Given the description of an element on the screen output the (x, y) to click on. 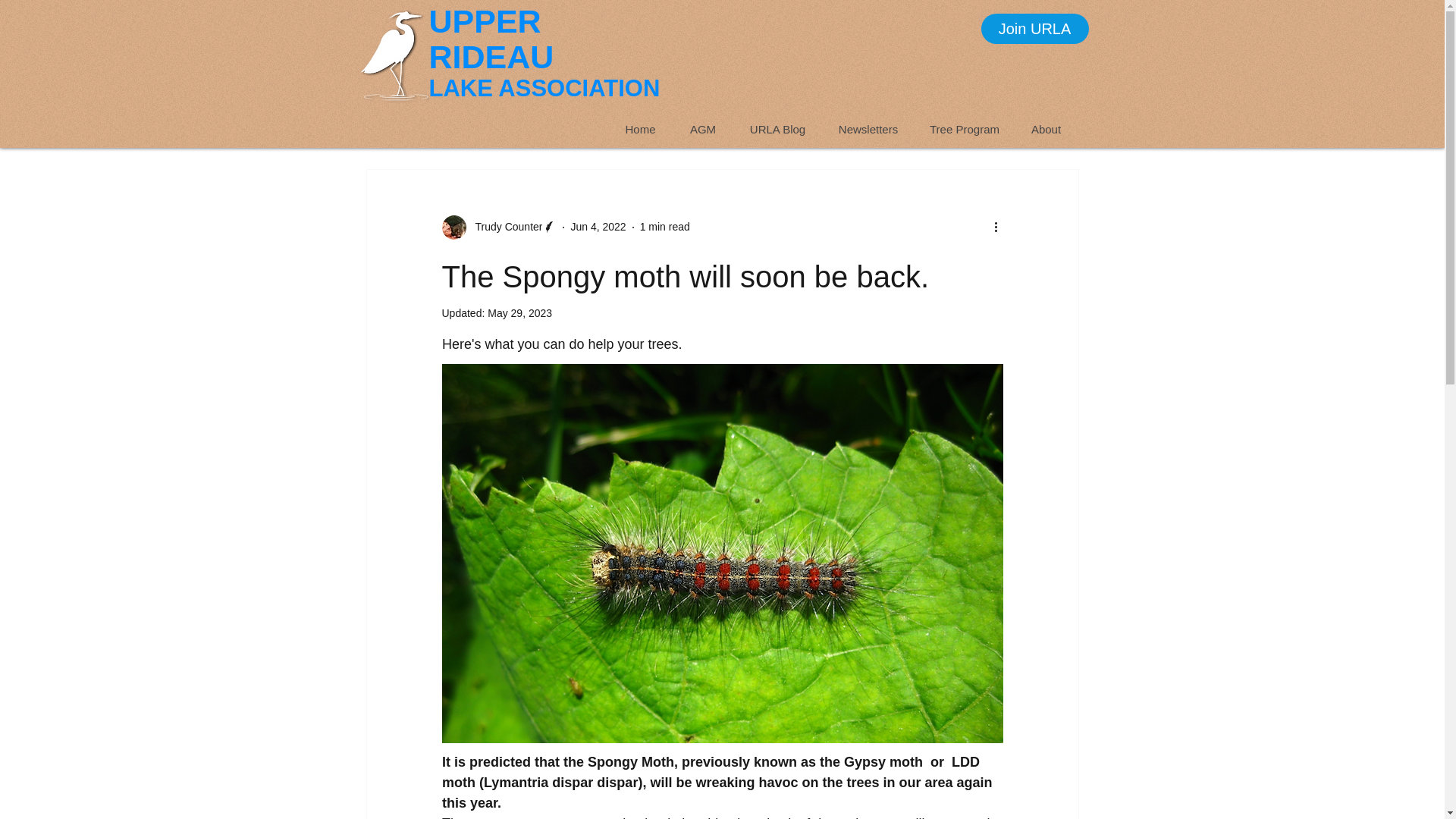
Jun 4, 2022 (598, 226)
Trudy Counter (503, 227)
Join URLA (1035, 28)
Trudy Counter (498, 227)
Newsletters (868, 129)
Tree Program (964, 129)
AGM (701, 129)
UPPER RIDEAU (491, 39)
1 min read (665, 226)
May 29, 2023 (519, 313)
URLA Blog (776, 129)
Home (639, 129)
About (1045, 129)
